Given the description of an element on the screen output the (x, y) to click on. 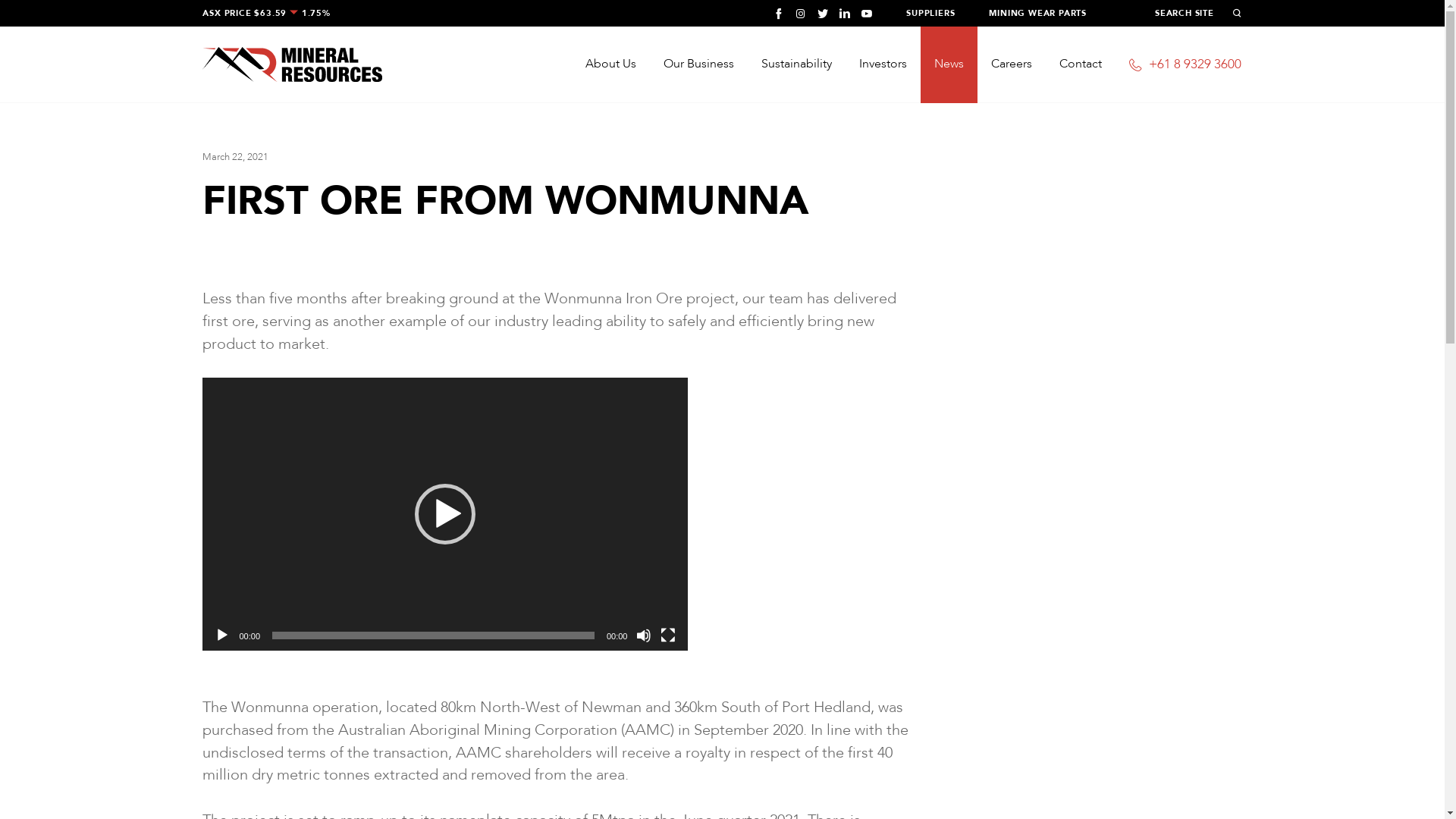
Sustainability Element type: text (796, 63)
SUPPLIERS Element type: text (930, 13)
Contact Element type: text (1080, 63)
+61 8 9329 3600 Element type: text (1178, 63)
Fullscreen Element type: hover (667, 635)
Our Business Element type: text (698, 63)
News Element type: text (948, 63)
Play Element type: hover (221, 635)
Investors Element type: text (882, 63)
MINING WEAR PARTS Element type: text (1037, 13)
Careers Element type: text (1011, 63)
Mute Element type: hover (643, 635)
SEARCH SITE Element type: text (1197, 13)
About Us Element type: text (610, 63)
